Given the description of an element on the screen output the (x, y) to click on. 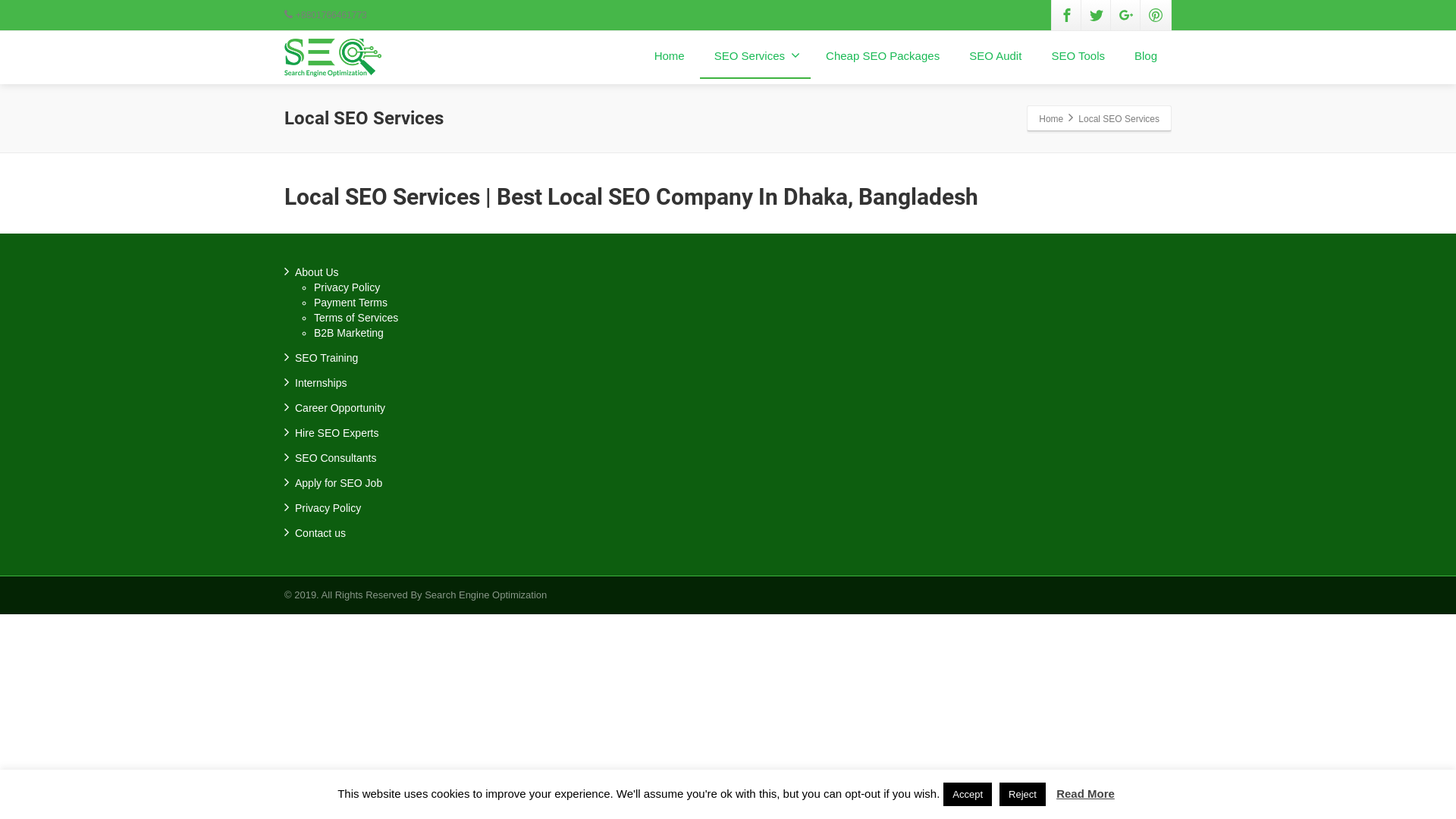
B2B Marketing Element type: text (348, 332)
Cheap SEO Packages Element type: text (882, 56)
About Us Element type: text (316, 272)
SEO Consultants Element type: text (335, 457)
Career Opportunity Element type: text (339, 407)
Accept Element type: text (967, 794)
SEO Audit Element type: text (994, 56)
Blog Element type: text (1145, 56)
Hire SEO Experts Element type: text (336, 432)
Twitter Element type: hover (1096, 15)
SEO Services Element type: text (754, 56)
Read More Element type: text (1085, 793)
Terms of Services Element type: text (355, 317)
Home Element type: text (1050, 117)
Reject Element type: text (1022, 794)
Privacy Policy Element type: text (346, 287)
Contact us Element type: text (319, 533)
Google Plus Element type: hover (1125, 15)
Facebook Element type: hover (1066, 15)
Home Element type: text (669, 56)
Payment Terms Element type: text (350, 302)
Pinterest Element type: hover (1155, 15)
Internships Element type: text (320, 382)
SEO Tools Element type: text (1077, 56)
Search Engine Optimization Element type: text (485, 594)
Privacy Policy Element type: text (327, 508)
SEO Training Element type: text (325, 357)
Apply for SEO Job Element type: text (338, 482)
